Given the description of an element on the screen output the (x, y) to click on. 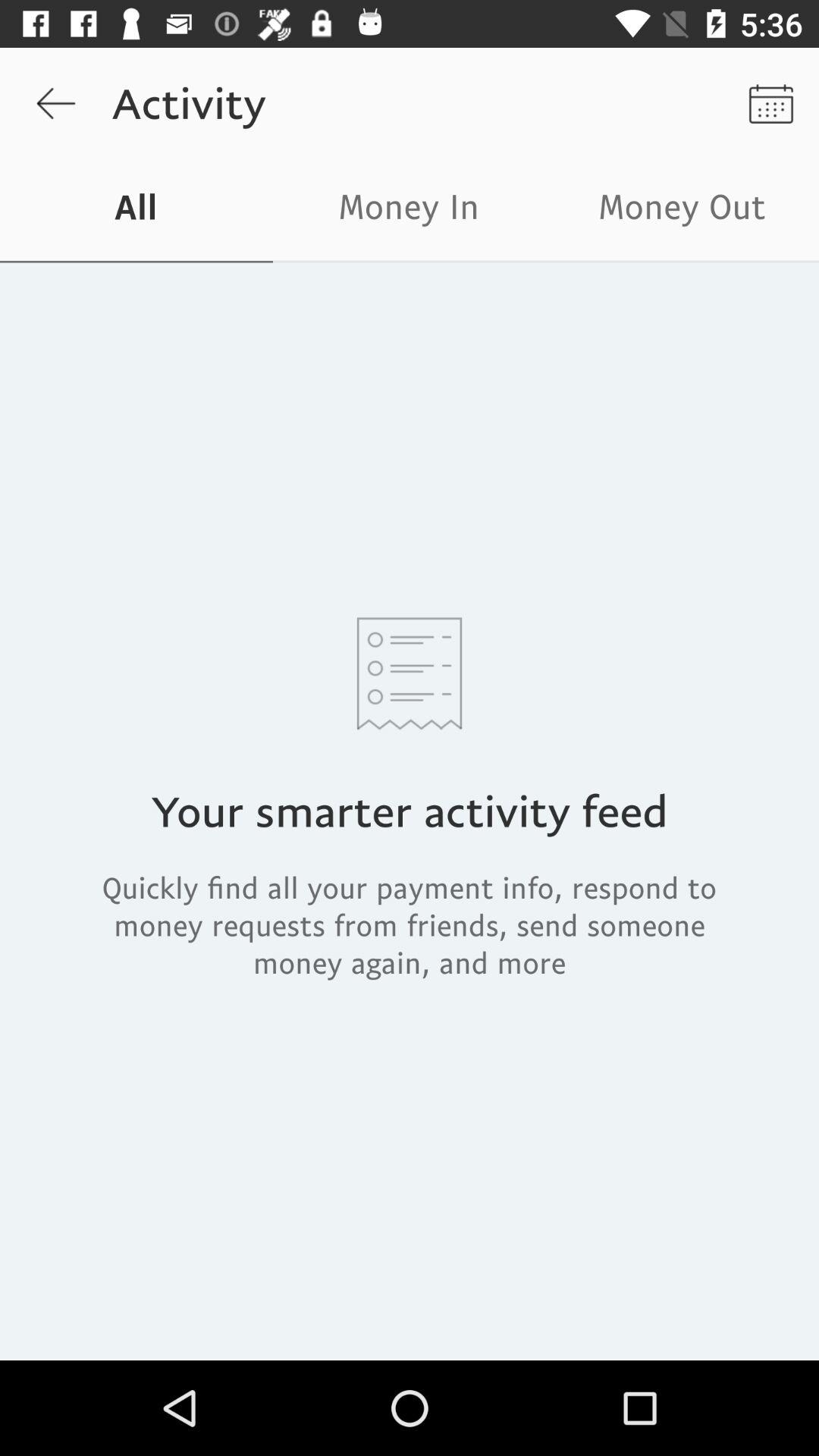
click the icon above the money out (771, 103)
